Given the description of an element on the screen output the (x, y) to click on. 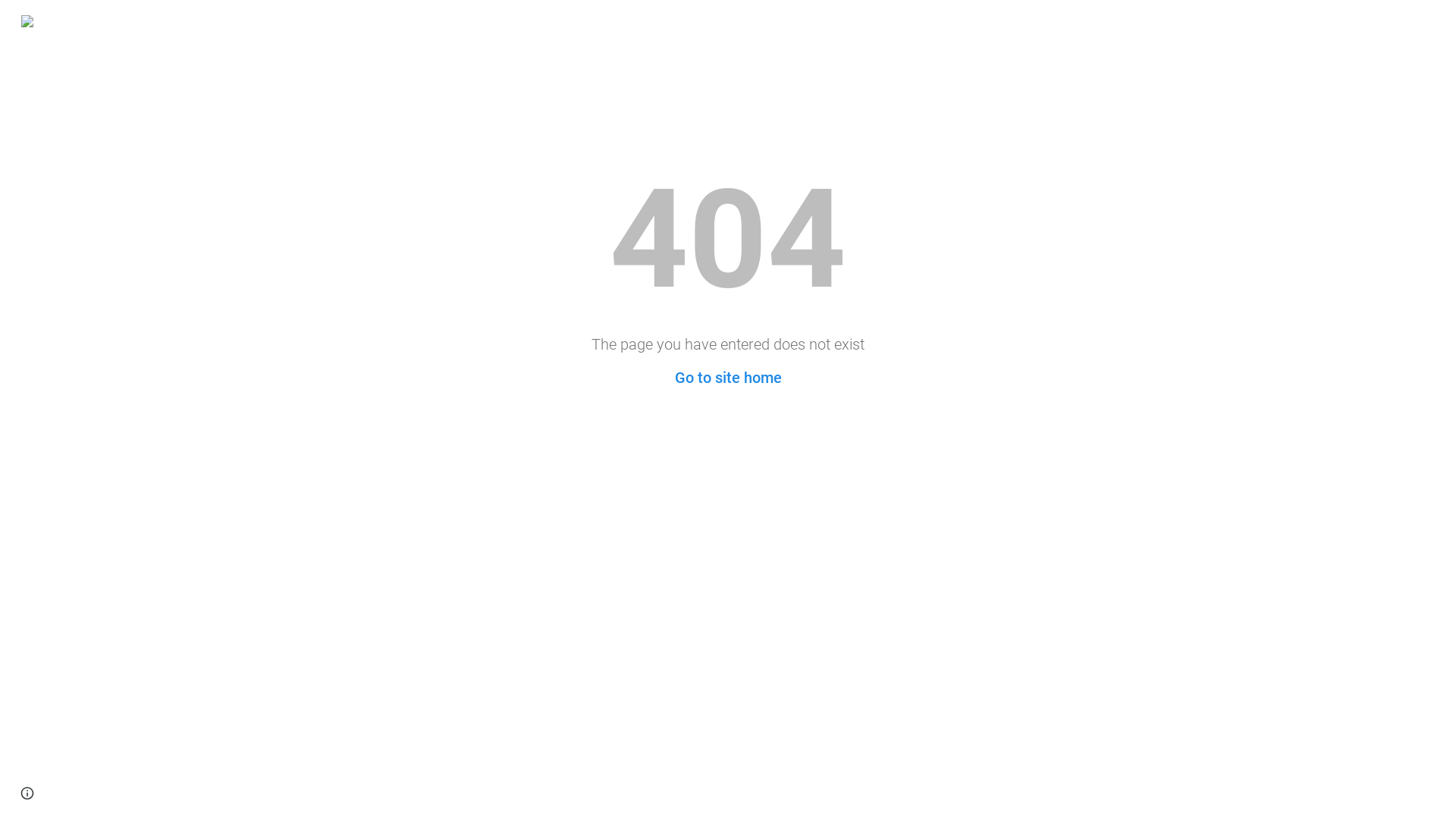
Go to site home Element type: text (727, 377)
